Given the description of an element on the screen output the (x, y) to click on. 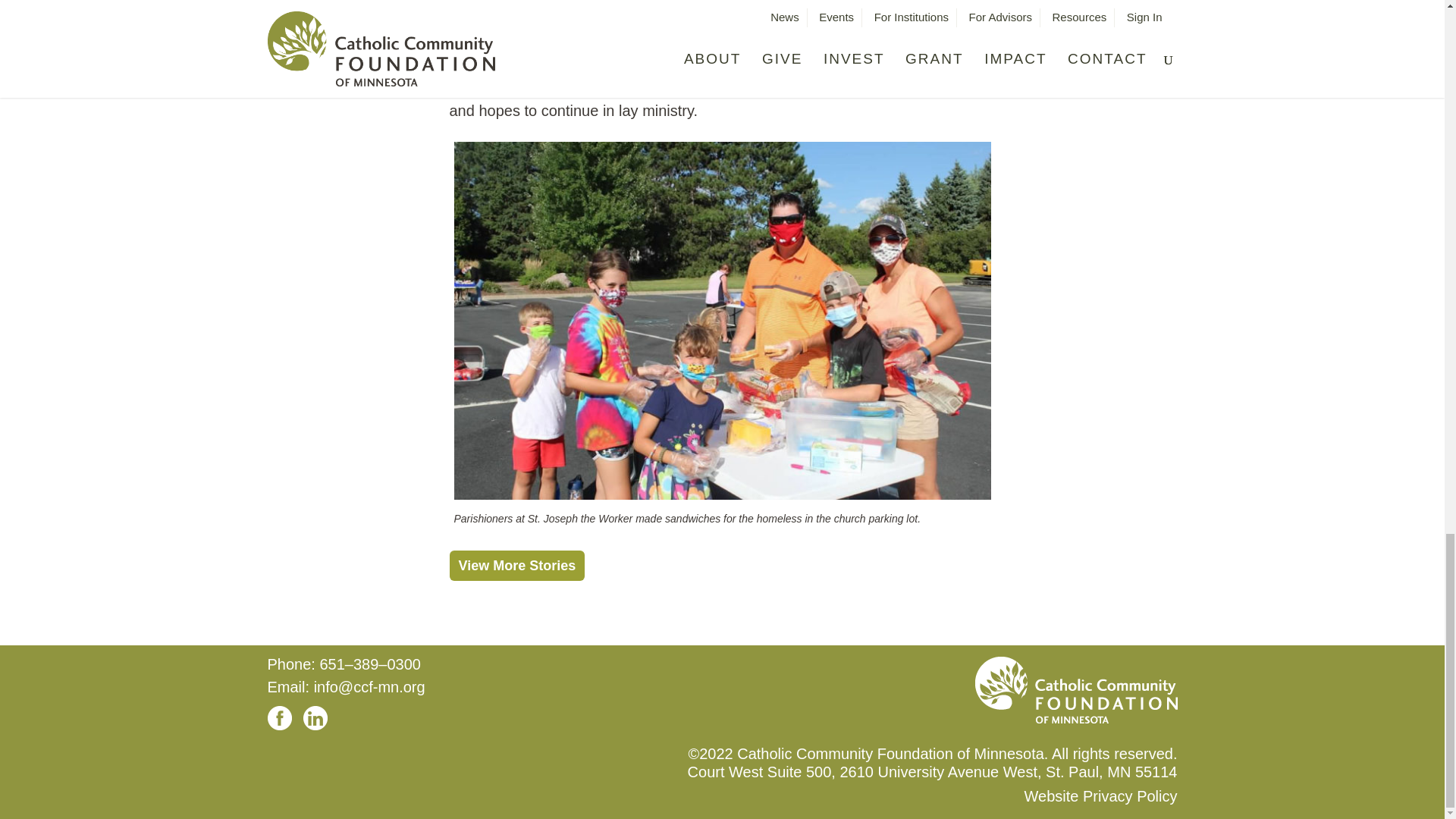
Facebook (314, 717)
View More Stories (516, 565)
Website Privacy Policy (1101, 795)
LinkedIn (278, 717)
